Given the description of an element on the screen output the (x, y) to click on. 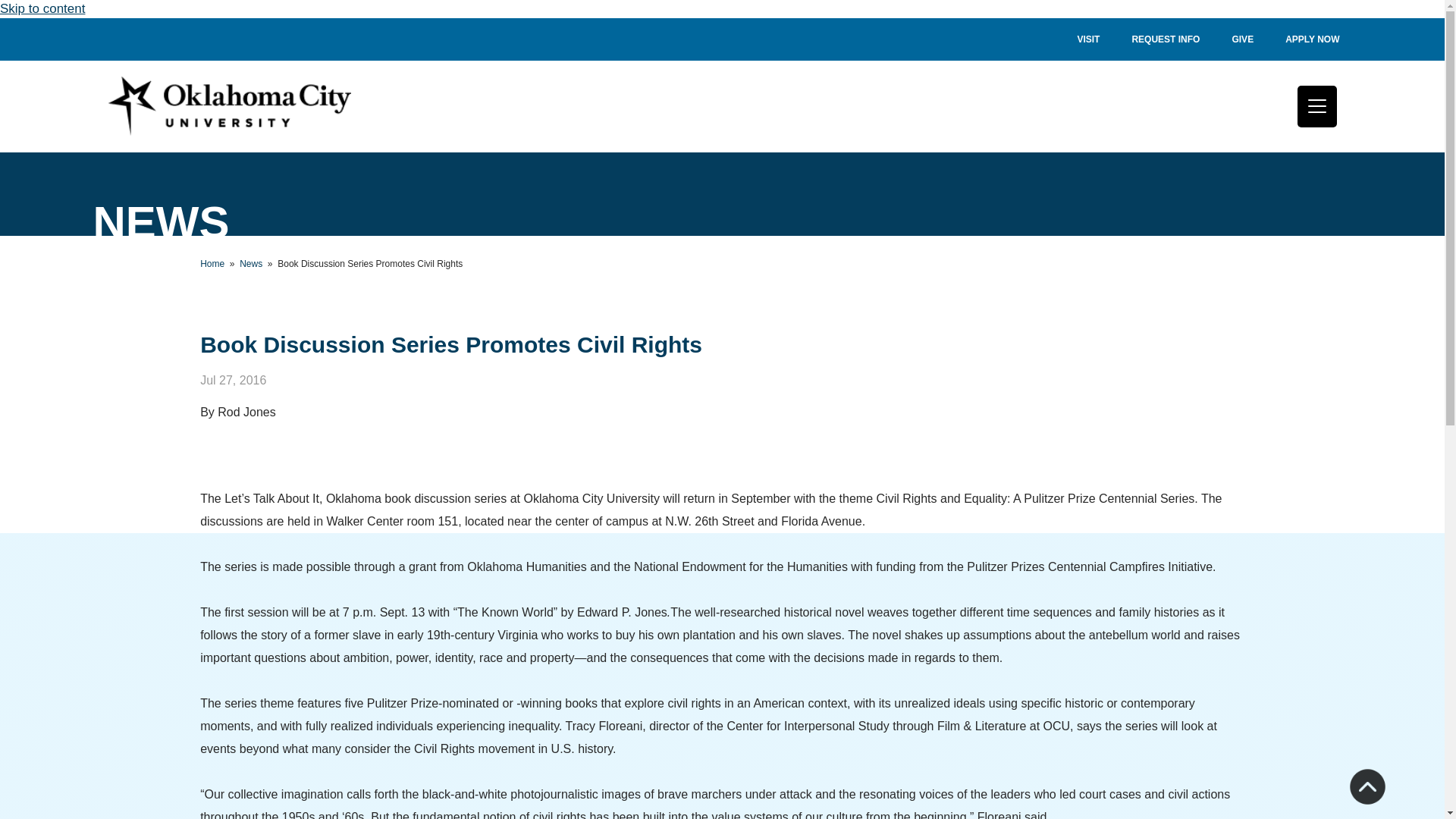
VISIT (1088, 39)
APPLY NOW (1311, 39)
Skip to content (42, 8)
REQUEST INFO (1165, 39)
GIVE (1242, 39)
